Given the description of an element on the screen output the (x, y) to click on. 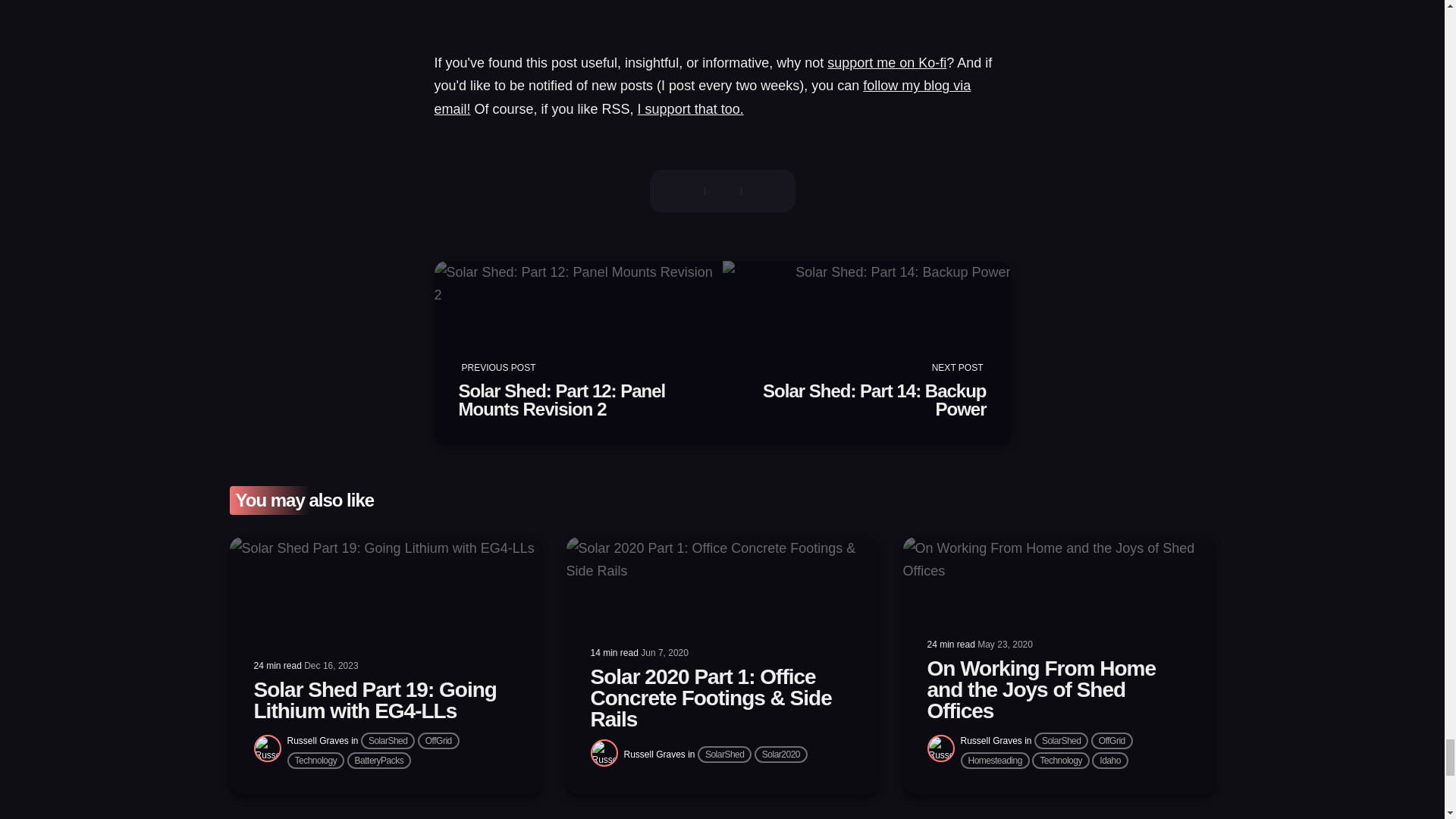
Russell Graves (316, 740)
Technology (314, 760)
follow my blog via email! (702, 97)
BatteryPacks (379, 760)
Russell Graves (653, 754)
Share on Facebook (676, 190)
SolarShed (866, 352)
Share on Pinterest (387, 740)
I support that too. (766, 190)
support me on Ko-fi (690, 109)
OffGrid (577, 352)
Share on Twitter (886, 62)
